Given the description of an element on the screen output the (x, y) to click on. 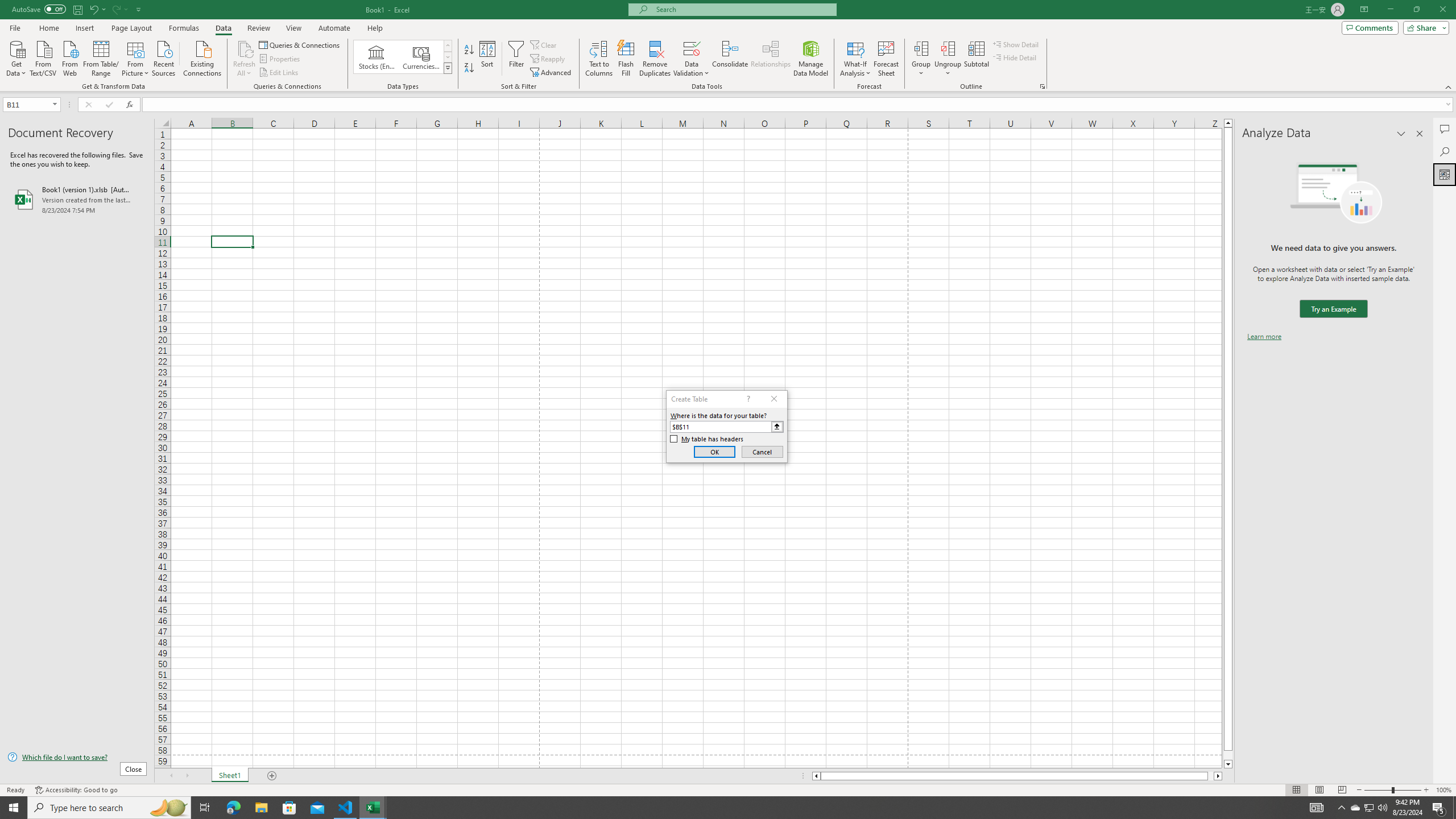
From Text/CSV (43, 57)
Review (258, 28)
Zoom (1392, 790)
